Given the description of an element on the screen output the (x, y) to click on. 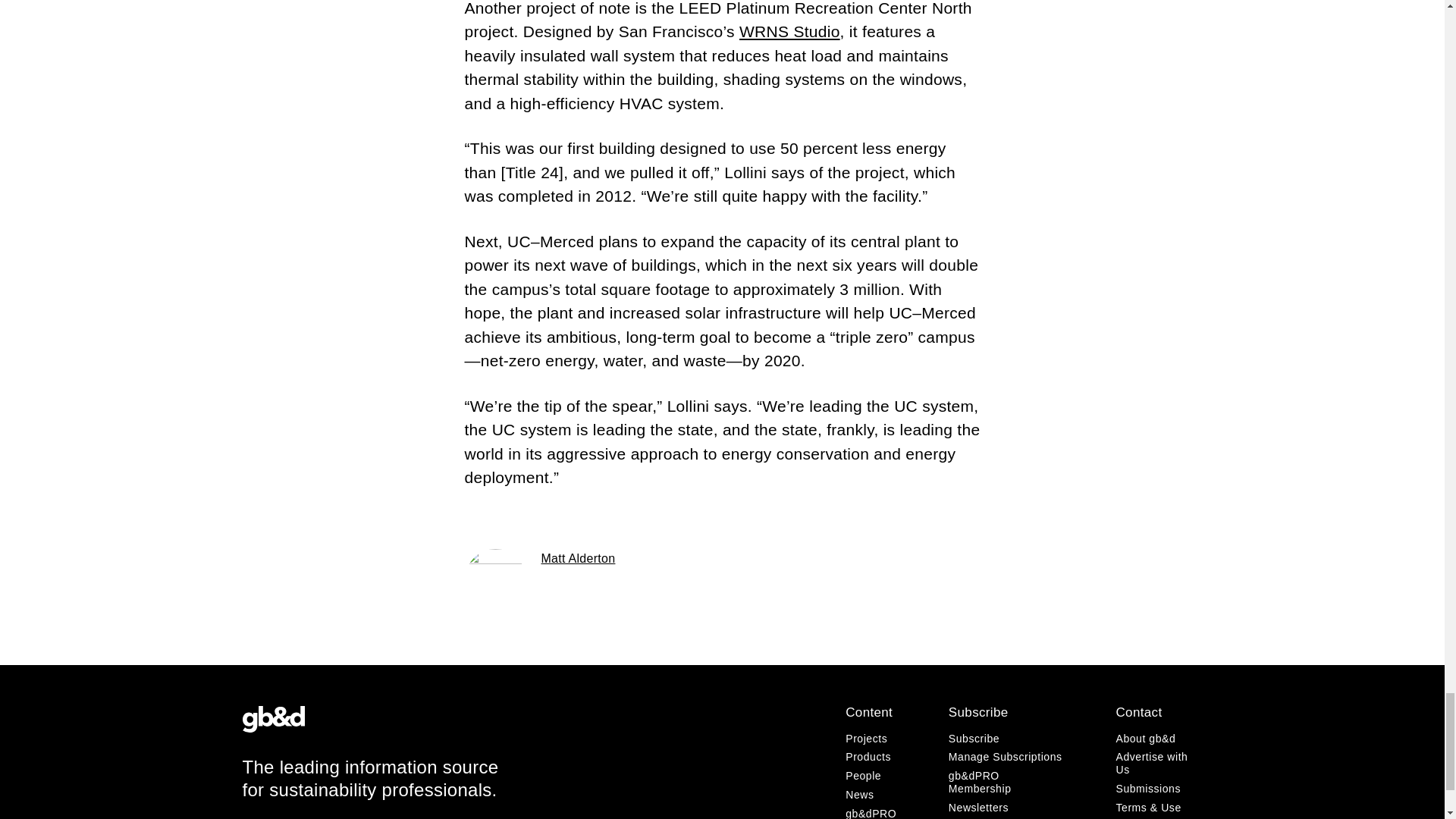
WRNS Studio (789, 31)
Matt Alderton (578, 557)
